Given the description of an element on the screen output the (x, y) to click on. 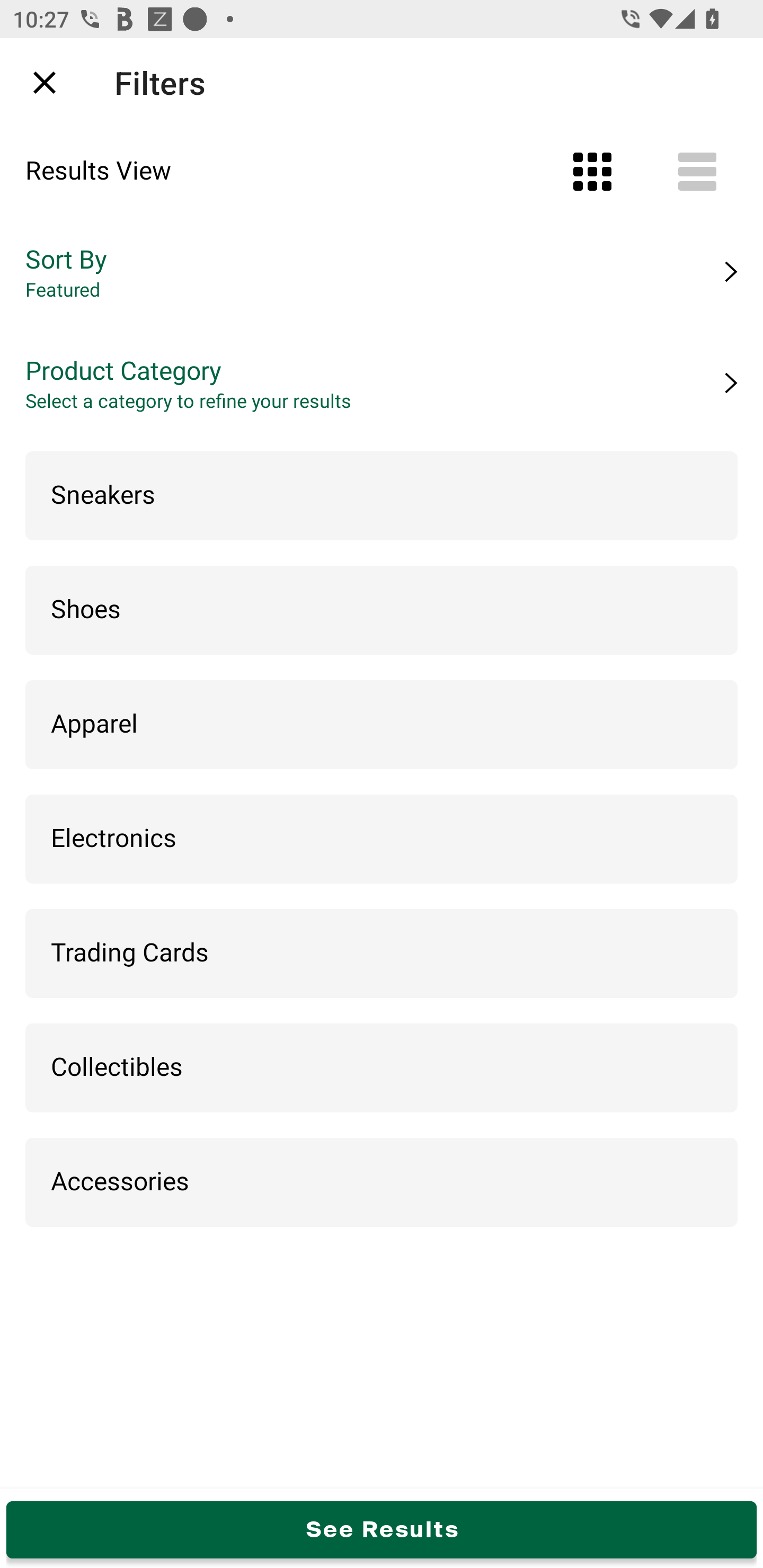
heels (370, 82)
Grid View (591, 171)
List View (697, 171)
Sort By Featured Next (381, 271)
Sneakers (381, 496)
Shoes (381, 610)
Apparel (381, 724)
Electronics (381, 839)
Trading Cards (381, 953)
Collectibles (381, 1068)
Accessories (381, 1182)
See Results (381, 1529)
